Given the description of an element on the screen output the (x, y) to click on. 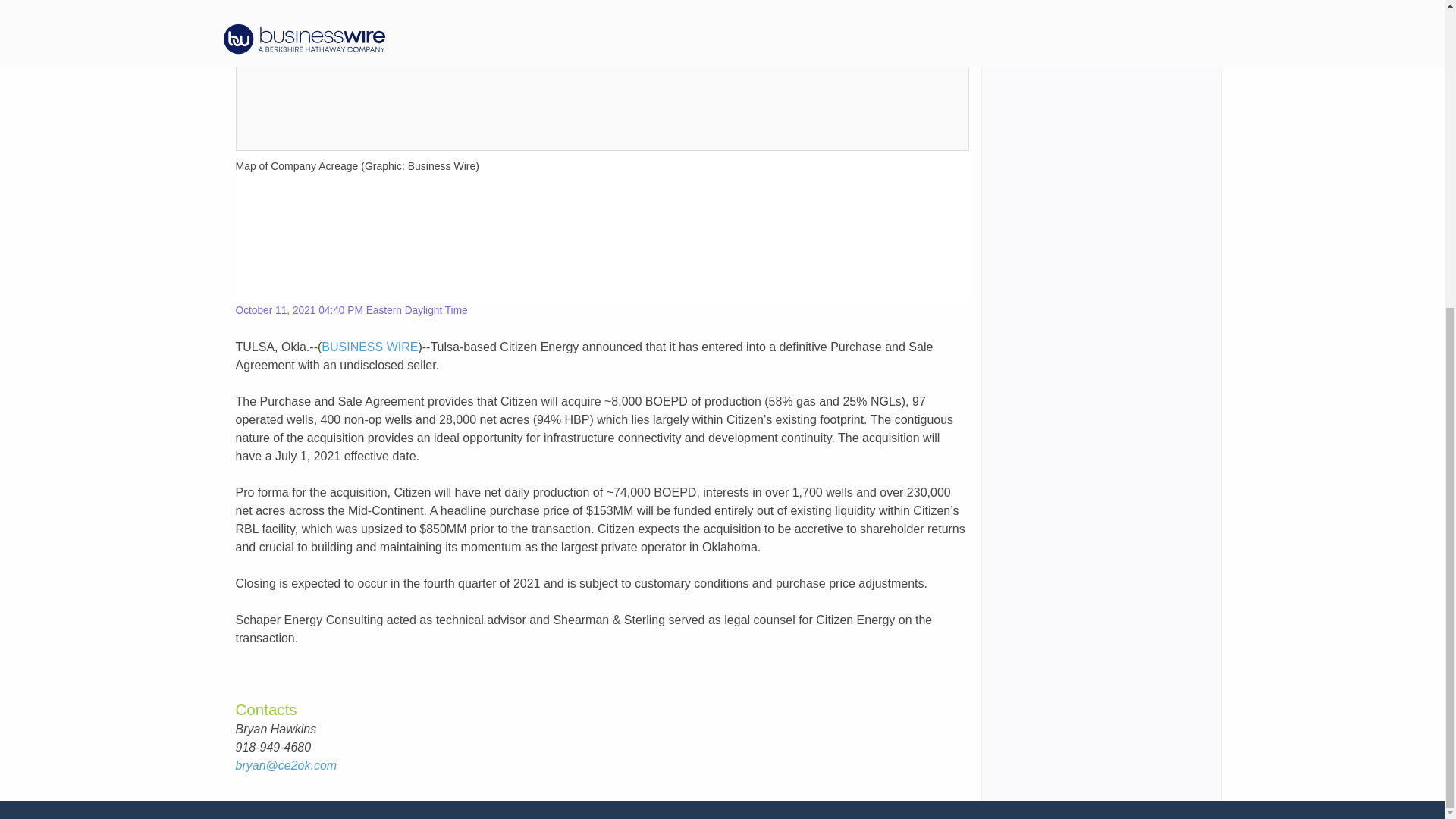
BUSINESS WIRE (369, 346)
